Given the description of an element on the screen output the (x, y) to click on. 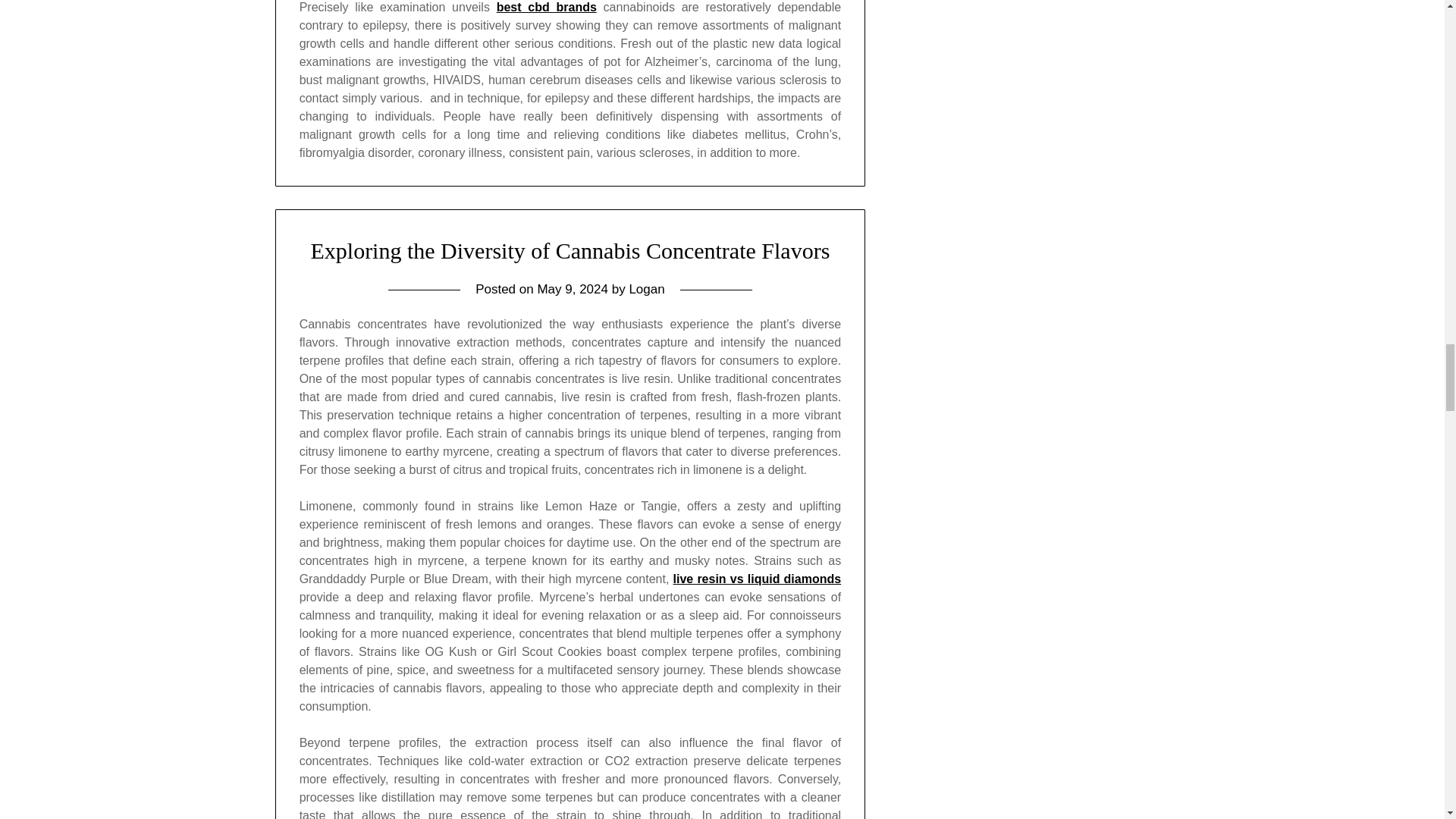
best cbd brands (546, 6)
May 9, 2024 (572, 288)
live resin vs liquid diamonds (756, 578)
Exploring the Diversity of Cannabis Concentrate Flavors (569, 250)
Logan (645, 288)
